Given the description of an element on the screen output the (x, y) to click on. 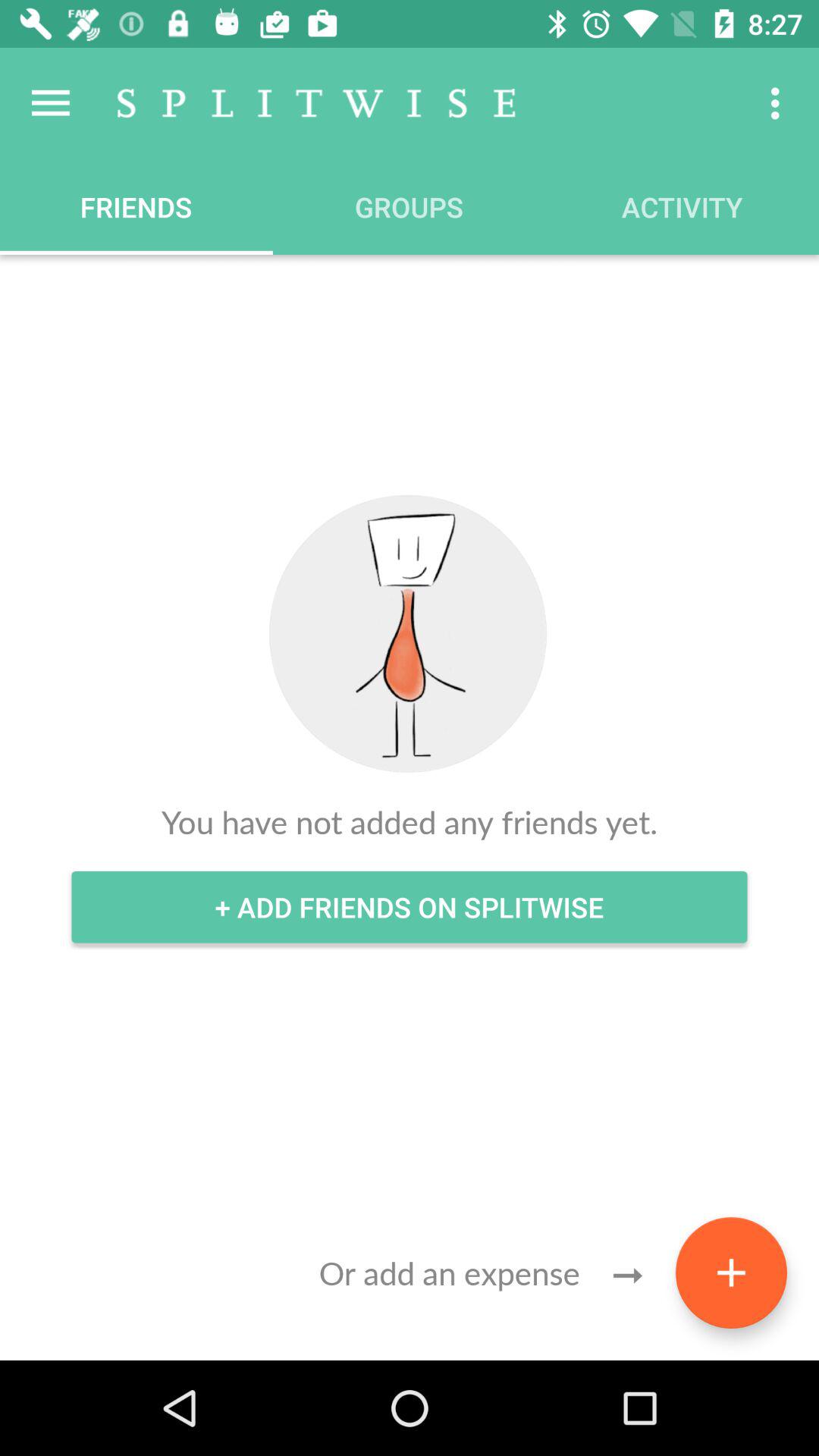
select the icon below add friends on (731, 1272)
